Given the description of an element on the screen output the (x, y) to click on. 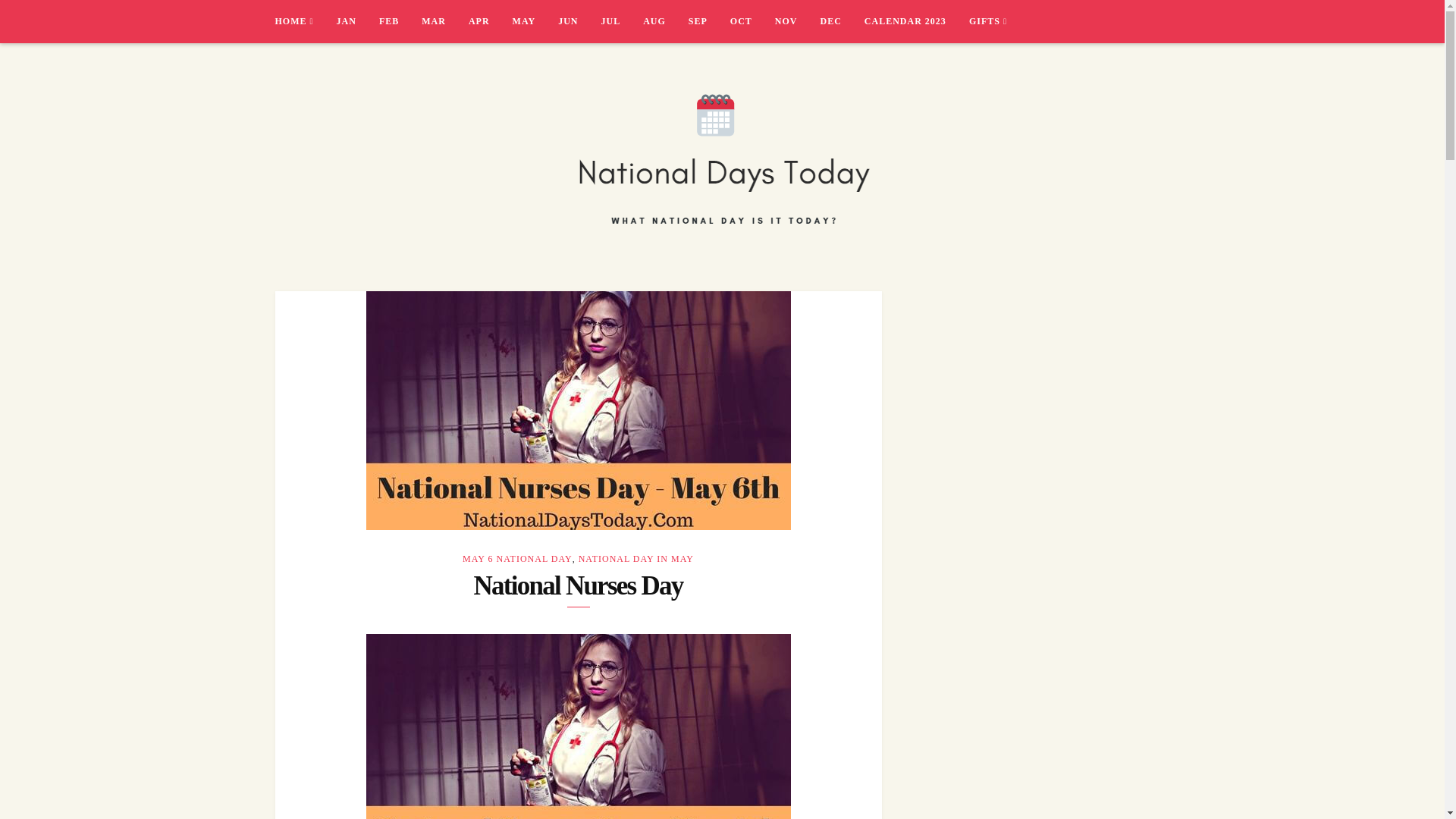
CALENDAR 2023 (916, 21)
HOME (305, 21)
FEB (400, 21)
AUG (665, 21)
MAY 6 NATIONAL DAY (517, 558)
DEC (842, 21)
MAY (535, 21)
MAR (445, 21)
JUN (578, 21)
National Nurses Day (577, 410)
SEP (709, 21)
OCT (752, 21)
JUL (621, 21)
NATIONAL DAY IN MAY (636, 558)
APR (490, 21)
